Given the description of an element on the screen output the (x, y) to click on. 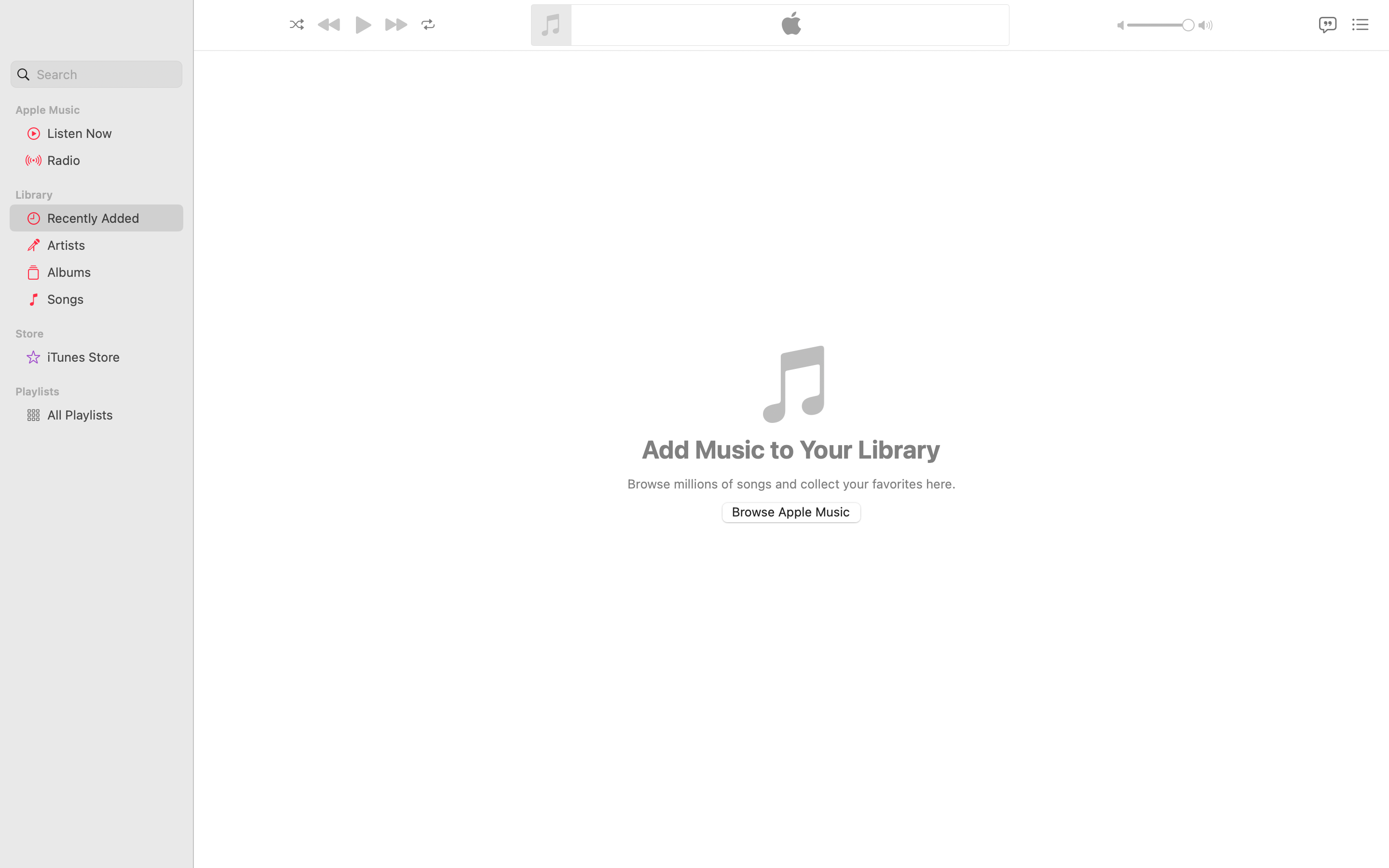
All Playlists Element type: AXStaticText (111, 414)
iTunes Store Element type: AXStaticText (111, 356)
Browse millions of songs and collect your favorites here. Element type: AXStaticText (790, 482)
Playlists Element type: AXStaticText (101, 391)
